Given the description of an element on the screen output the (x, y) to click on. 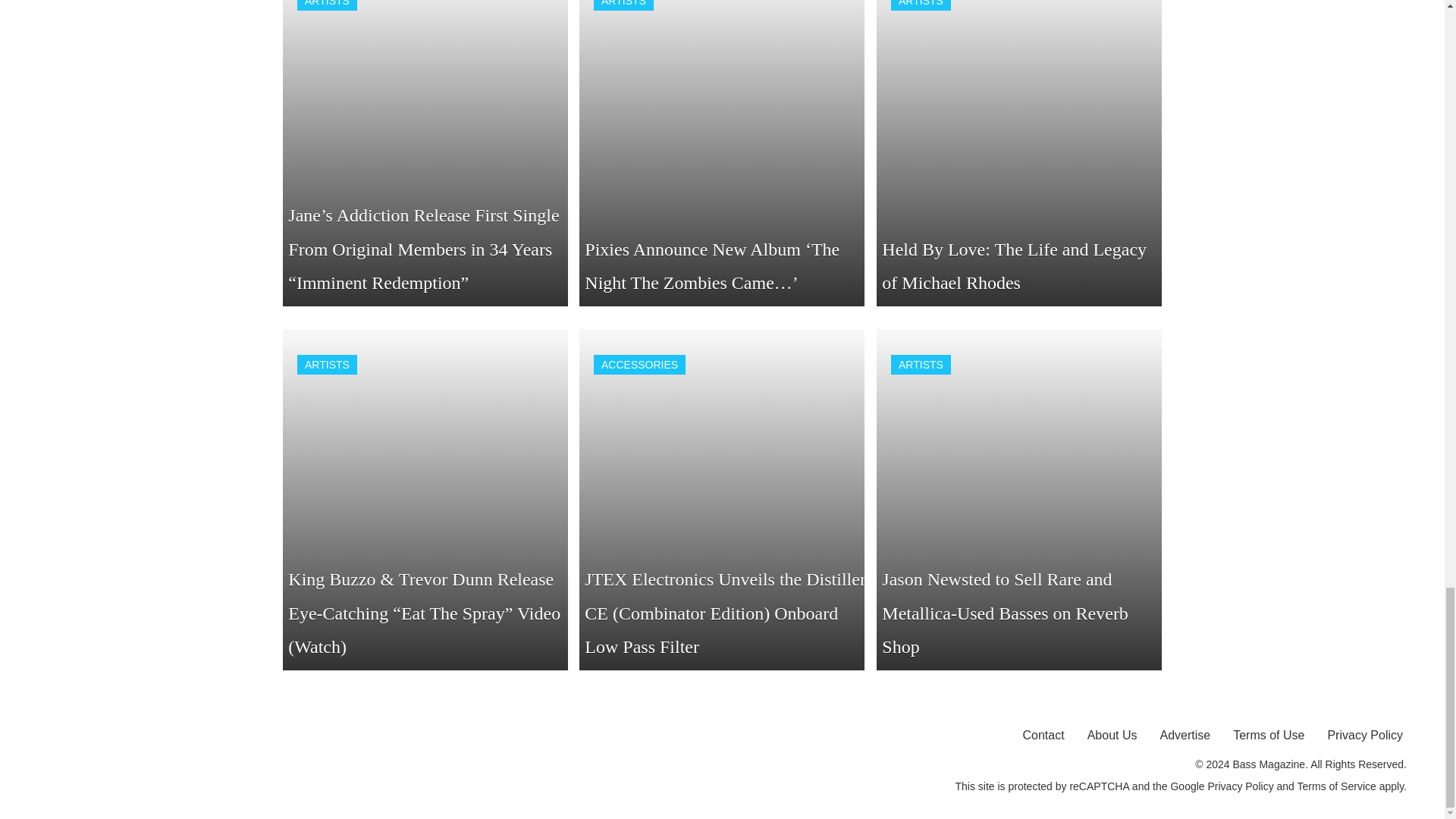
View Box Content (424, 153)
View Box Content (1018, 153)
View Box Content (424, 499)
View Box Content (721, 153)
